Given the description of an element on the screen output the (x, y) to click on. 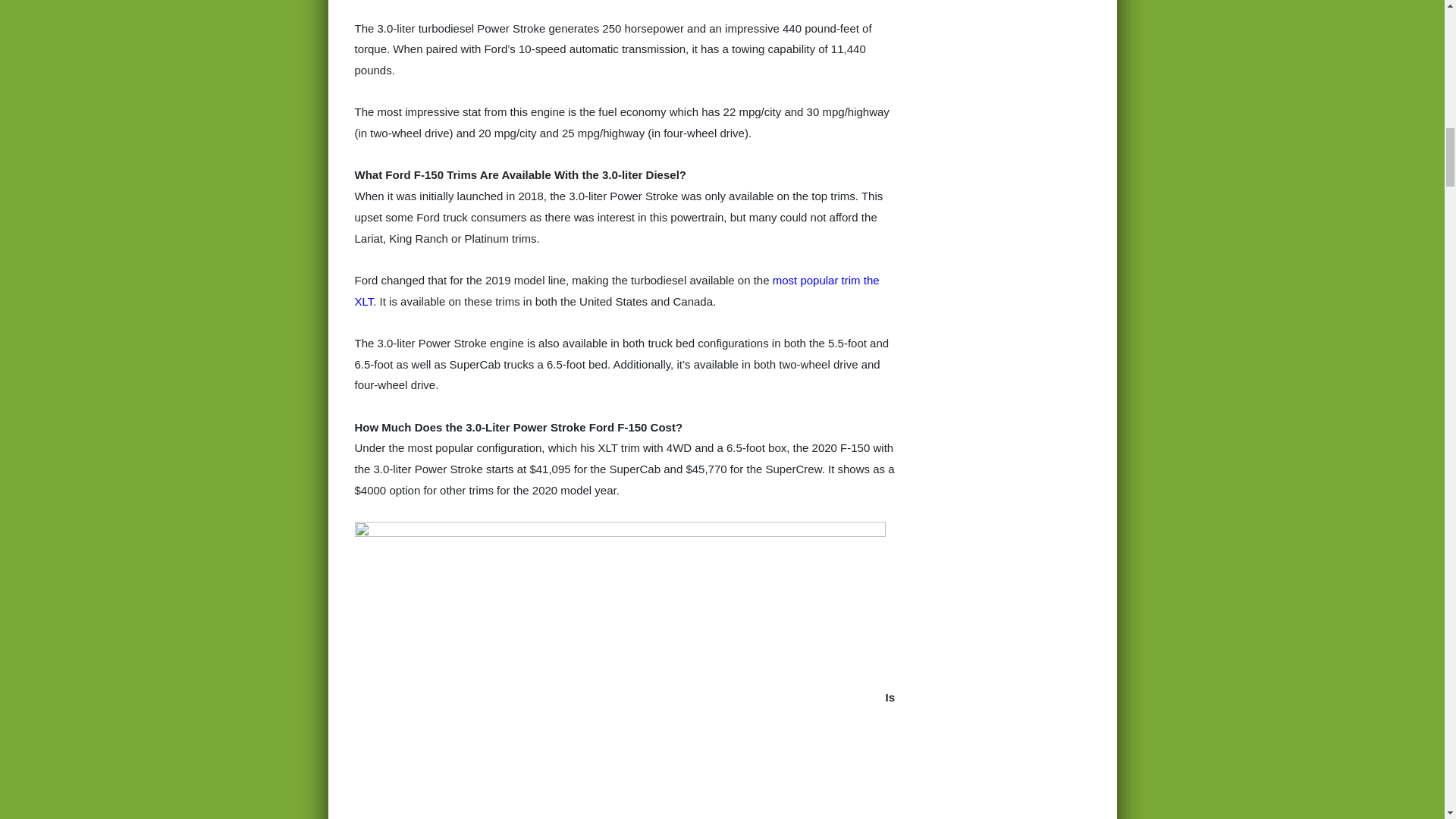
most popular trim the XLT (617, 290)
